Given the description of an element on the screen output the (x, y) to click on. 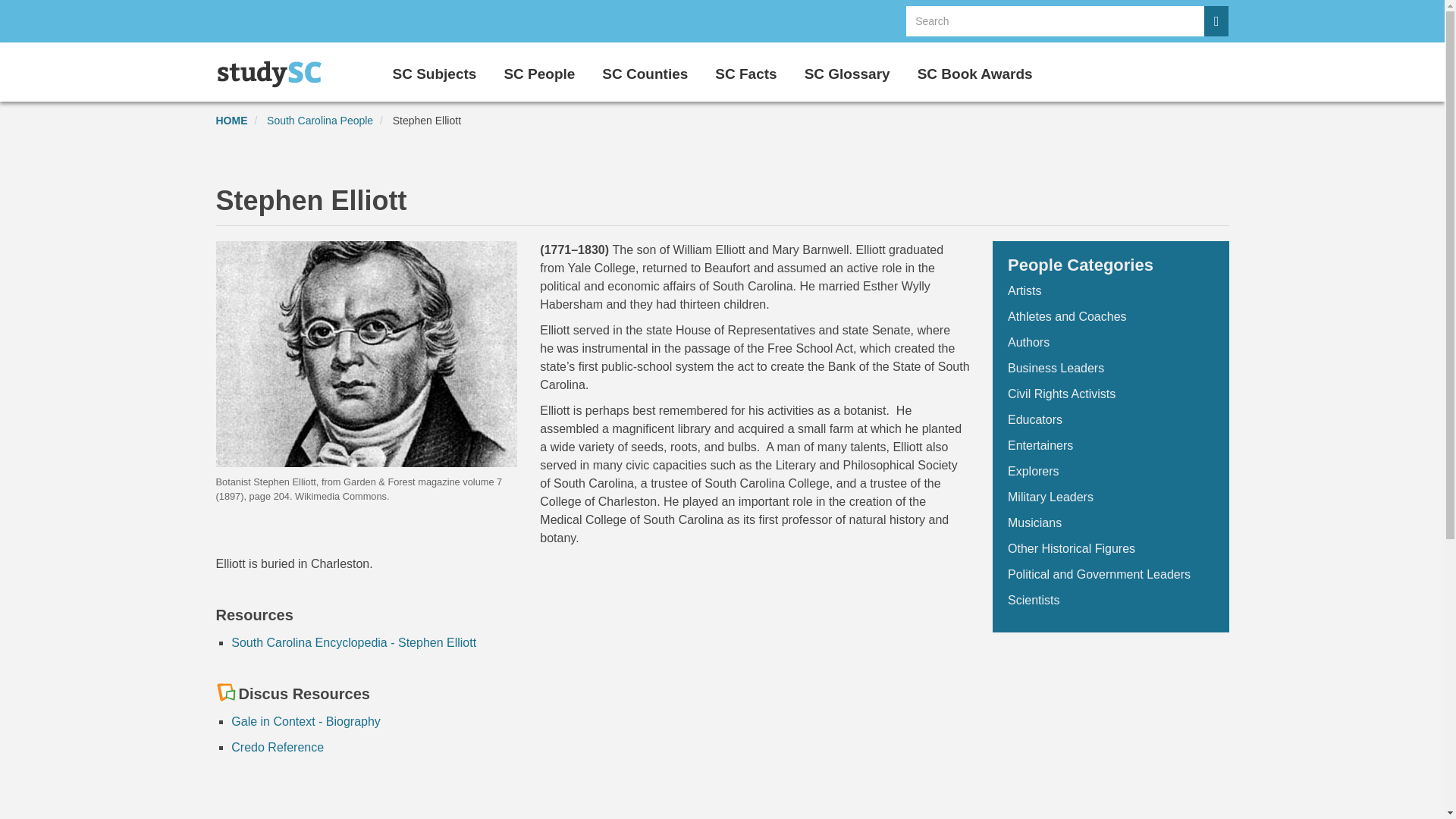
Authors (1028, 341)
SC People (539, 69)
Entertainers (1040, 445)
Political and Government Leaders (1099, 574)
Musicians (1034, 522)
South Carolina People (319, 120)
Other Historical Figures (1071, 548)
SC Counties (643, 69)
Scientists (1033, 599)
South Carolina Encyclopedia - Stephen Elliott (353, 642)
SC Glossary (847, 69)
Civil Rights Activists (1061, 393)
Credo Reference (277, 747)
Athletes and Coaches (1066, 316)
